Given the description of an element on the screen output the (x, y) to click on. 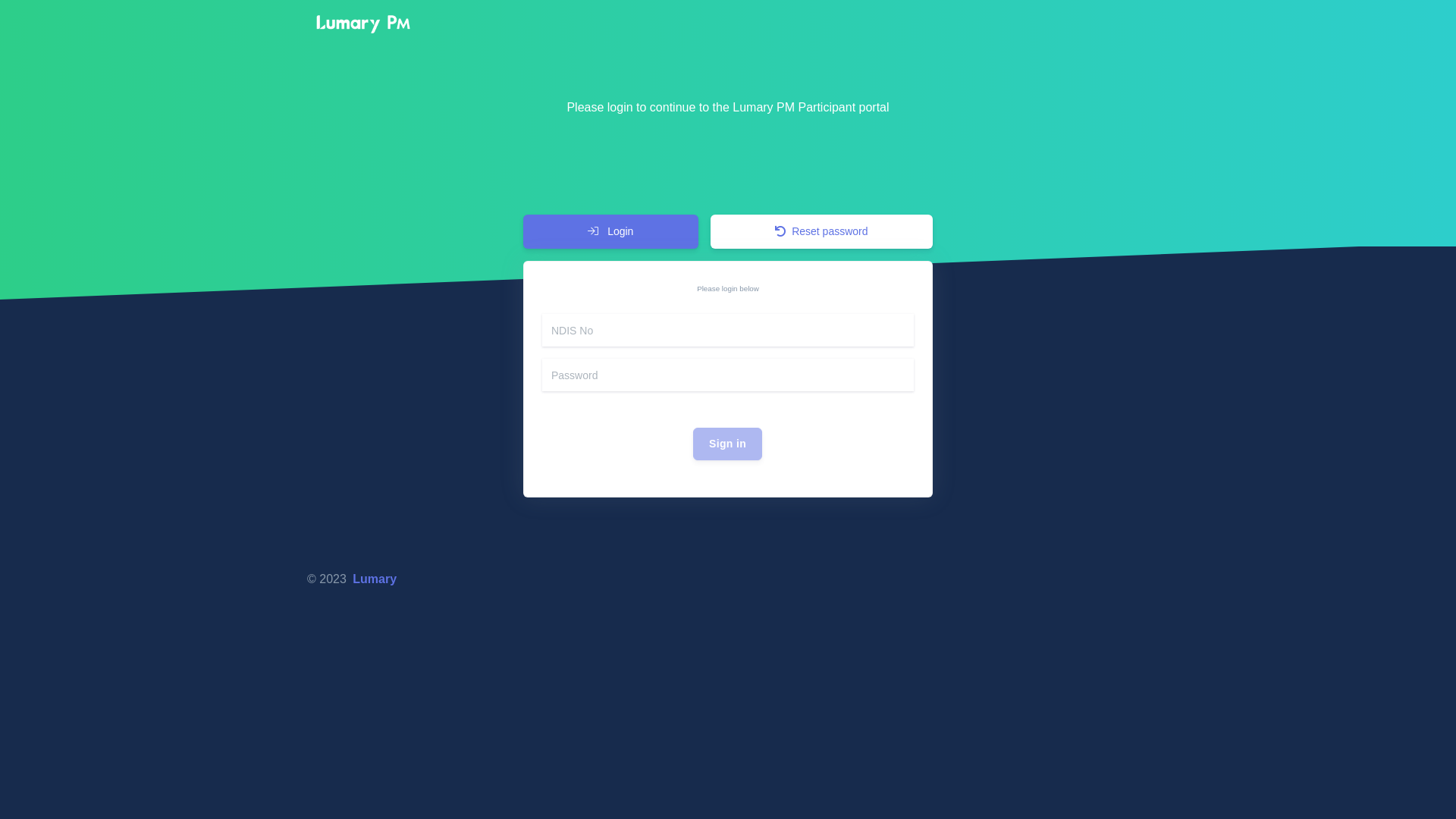
  Reset password Element type: text (821, 231)
Lumary Element type: text (374, 578)
  Login Element type: text (610, 231)
Sign in Element type: text (727, 443)
